Given the description of an element on the screen output the (x, y) to click on. 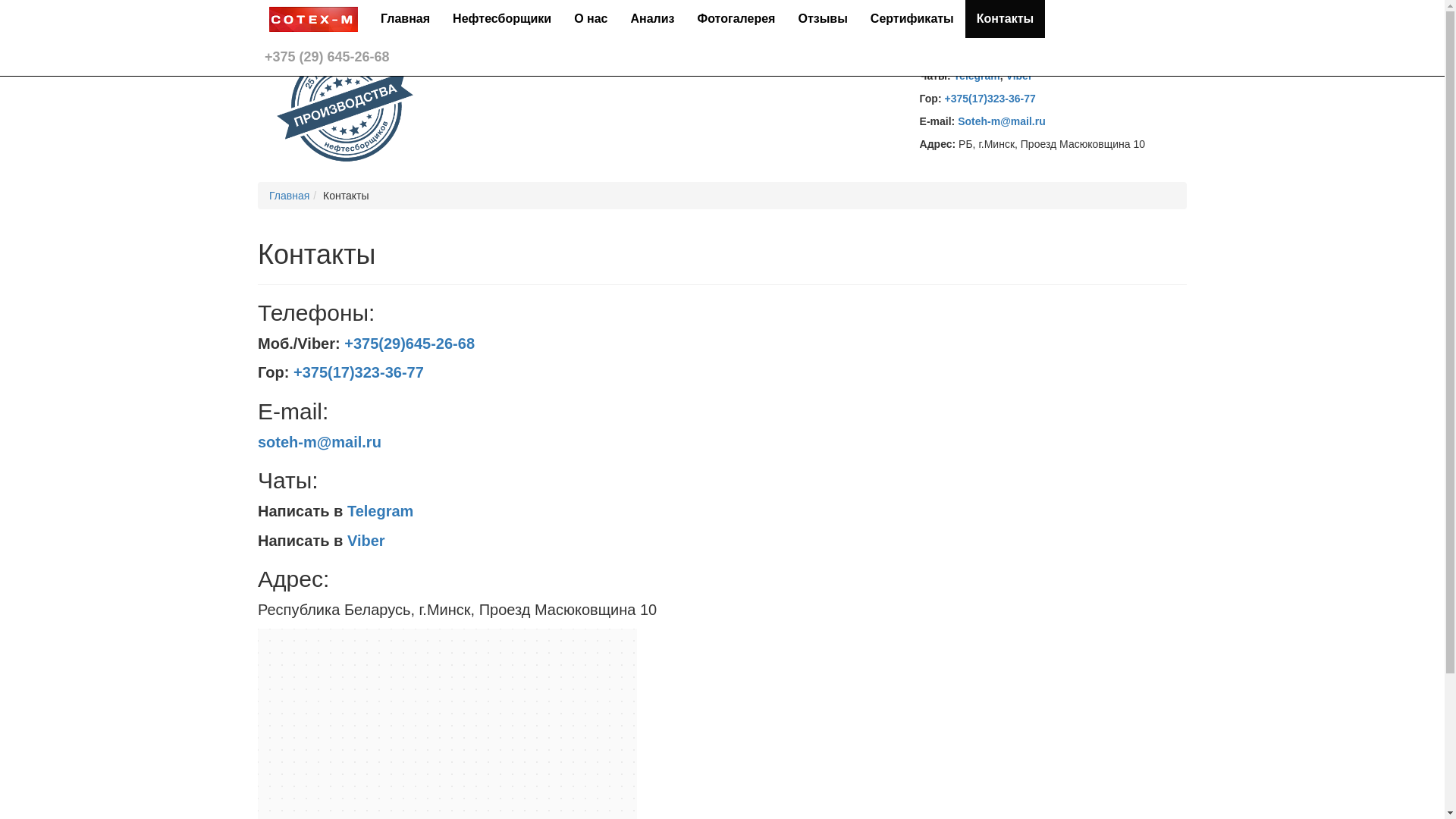
Viber Element type: text (1019, 75)
+375(29)645-26-68 Element type: text (409, 343)
Viber Element type: text (366, 540)
Soteh-m@mail.ru Element type: text (1001, 121)
soteh-m@mail.ru Element type: text (319, 441)
+375(29)645-26-68 Element type: text (1022, 53)
Telegram Element type: text (380, 510)
+375(17)323-36-77 Element type: text (989, 98)
Telegram Element type: text (976, 75)
+375(17)323-36-77 Element type: text (358, 372)
